Given the description of an element on the screen output the (x, y) to click on. 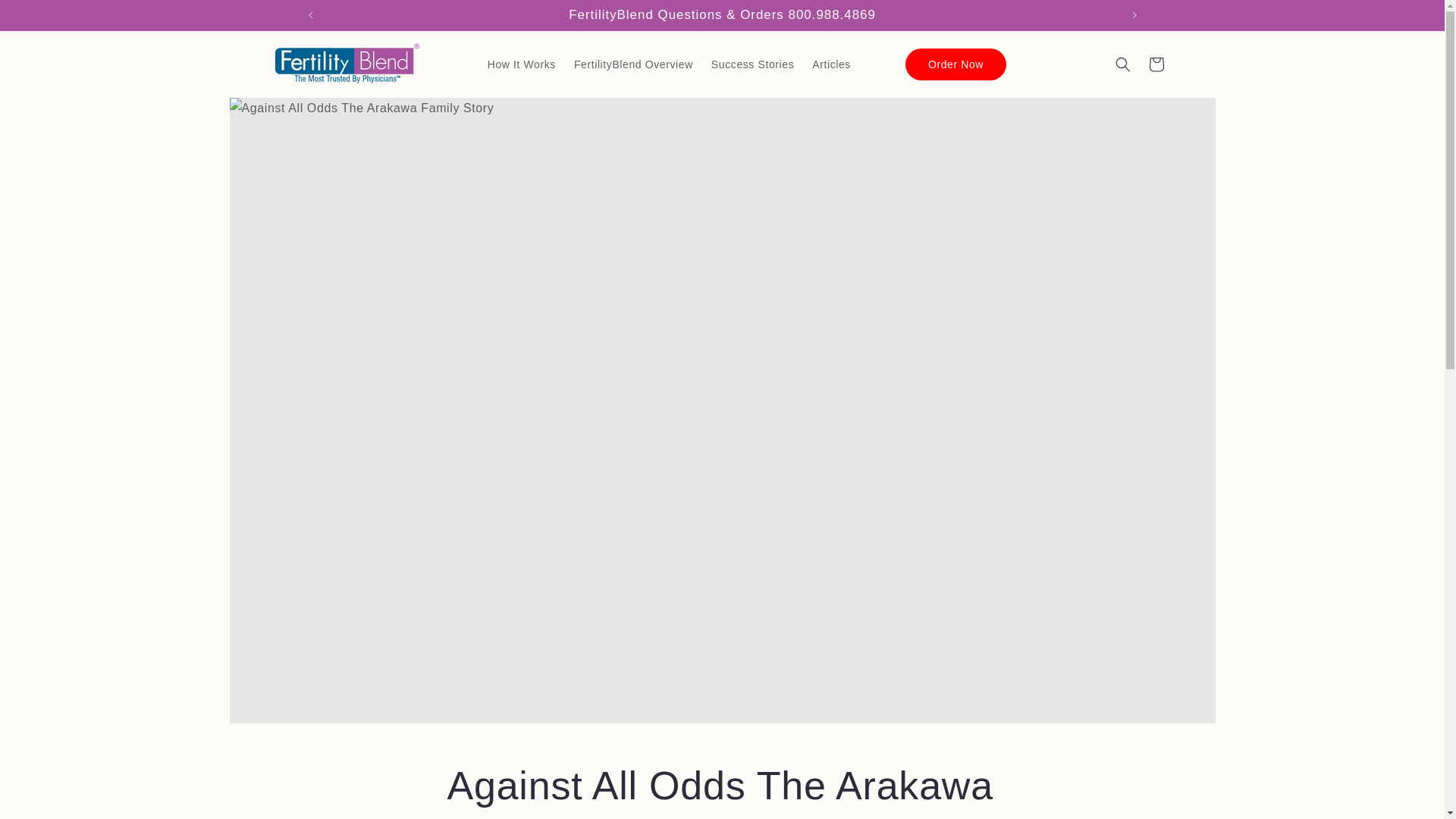
Cart (1155, 64)
Success Stories (752, 64)
Order Now (955, 64)
Skip to content (45, 17)
Articles (831, 64)
How It Works (521, 64)
FertilityBlend Overview (632, 64)
